Given the description of an element on the screen output the (x, y) to click on. 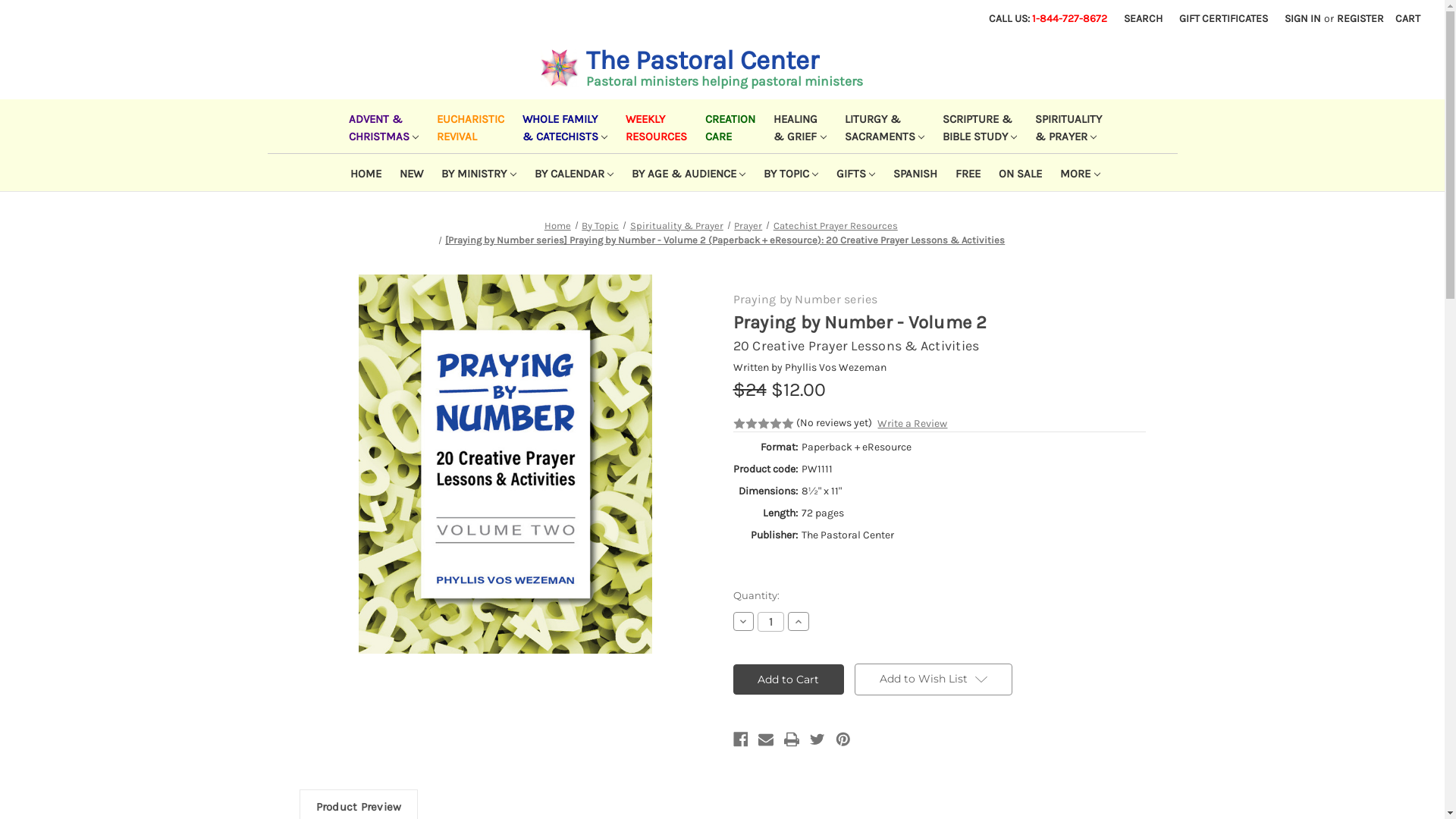
Write a Review Element type: text (912, 423)
Increase Quantity: Element type: text (798, 620)
Spirituality & Prayer Element type: text (676, 225)
CART Element type: text (1407, 18)
LITURGY &
SACRAMENTS Element type: text (881, 126)
BY MINISTRY Element type: text (475, 172)
SEARCH Element type: text (1142, 18)
GIFTS Element type: text (852, 172)
Home Element type: text (557, 225)
BY TOPIC Element type: text (787, 172)
Add to Cart Element type: text (788, 679)
GIFT CERTIFICATES Element type: text (1223, 18)
BY AGE & AUDIENCE Element type: text (685, 172)
Product rating is 0 of 5 Element type: hover (762, 423)
SPIRITUALITY
& PRAYER Element type: text (1064, 126)
Pinterest Element type: hover (842, 738)
Email Element type: hover (765, 738)
By Topic Element type: text (599, 225)
SIGN IN Element type: text (1302, 18)
ADVENT &
CHRISTMAS Element type: text (380, 126)
Prayer Element type: text (748, 225)
WEEKLY
RESOURCES Element type: text (653, 126)
Add to Wish List Element type: text (933, 679)
Decrease Quantity: Element type: text (742, 620)
FREE Element type: text (964, 172)
SPANISH Element type: text (912, 172)
REGISTER Element type: text (1360, 18)
HOME Element type: text (362, 172)
ON SALE Element type: text (1017, 172)
Print Element type: hover (791, 738)
HEALING
& GRIEF Element type: text (796, 126)
Facebook Element type: hover (739, 738)
WHOLE FAMILY
& CATECHISTS Element type: text (561, 126)
BY CALENDAR Element type: text (570, 172)
CREATION
CARE Element type: text (727, 126)
EUCHARISTIC
REVIVAL Element type: text (467, 126)
SCRIPTURE &
BIBLE STUDY Element type: text (976, 126)
Catechist Prayer Resources Element type: text (835, 225)
Twitter Element type: hover (817, 738)
NEW Element type: text (408, 172)
MORE Element type: text (1076, 172)
CALL US: 1-844-727-8672 Element type: text (1047, 18)
